Given the description of an element on the screen output the (x, y) to click on. 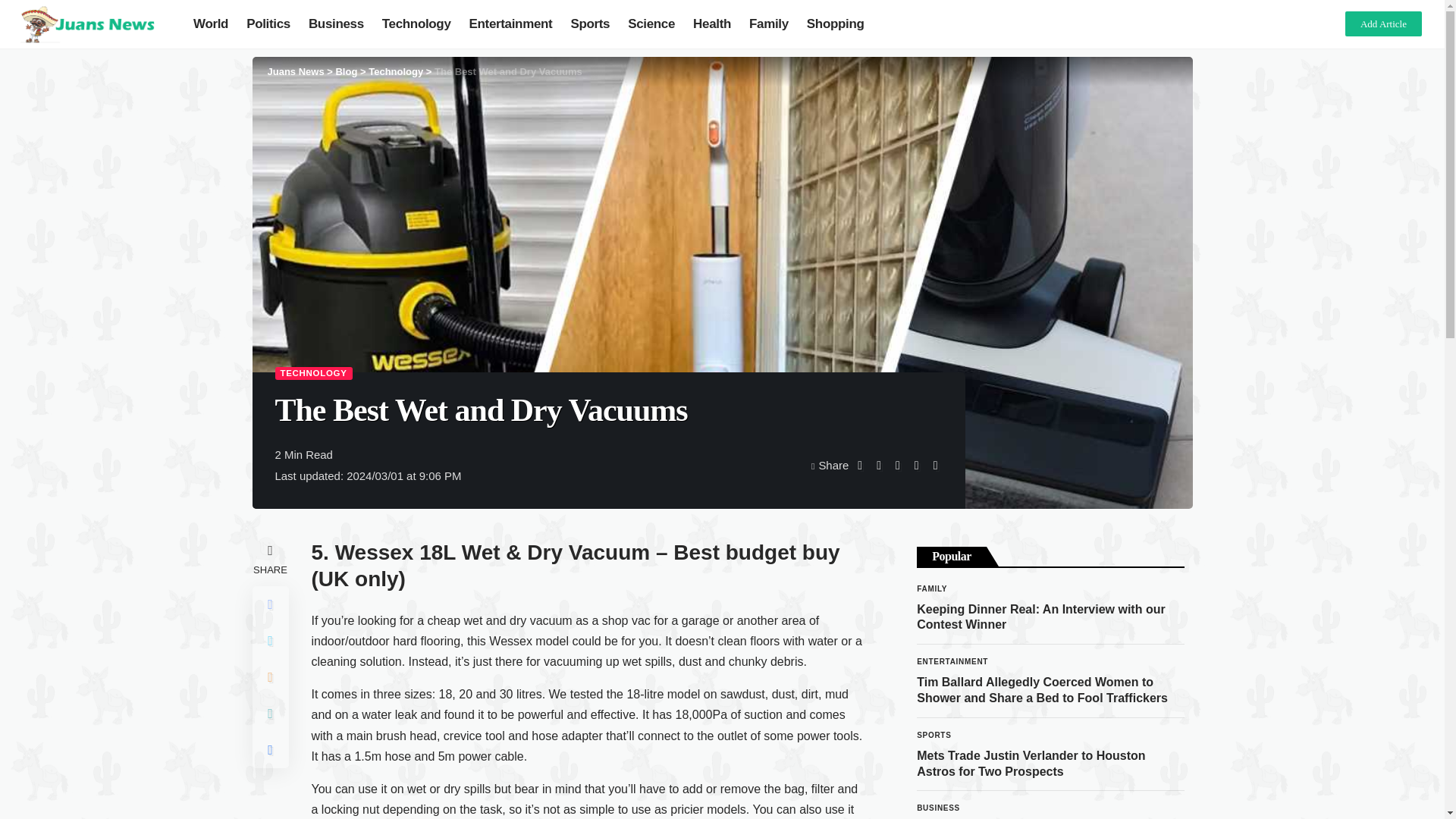
Go to the Technology Category archives. (395, 71)
Shopping (835, 23)
Technology (416, 23)
Science (651, 23)
Juans News (294, 71)
Health (711, 23)
Add Article (1383, 23)
Family (768, 23)
Blog (345, 71)
Politics (268, 23)
World (210, 23)
Go to Blog. (345, 71)
Entertainment (511, 23)
Technology (395, 71)
Business (335, 23)
